Given the description of an element on the screen output the (x, y) to click on. 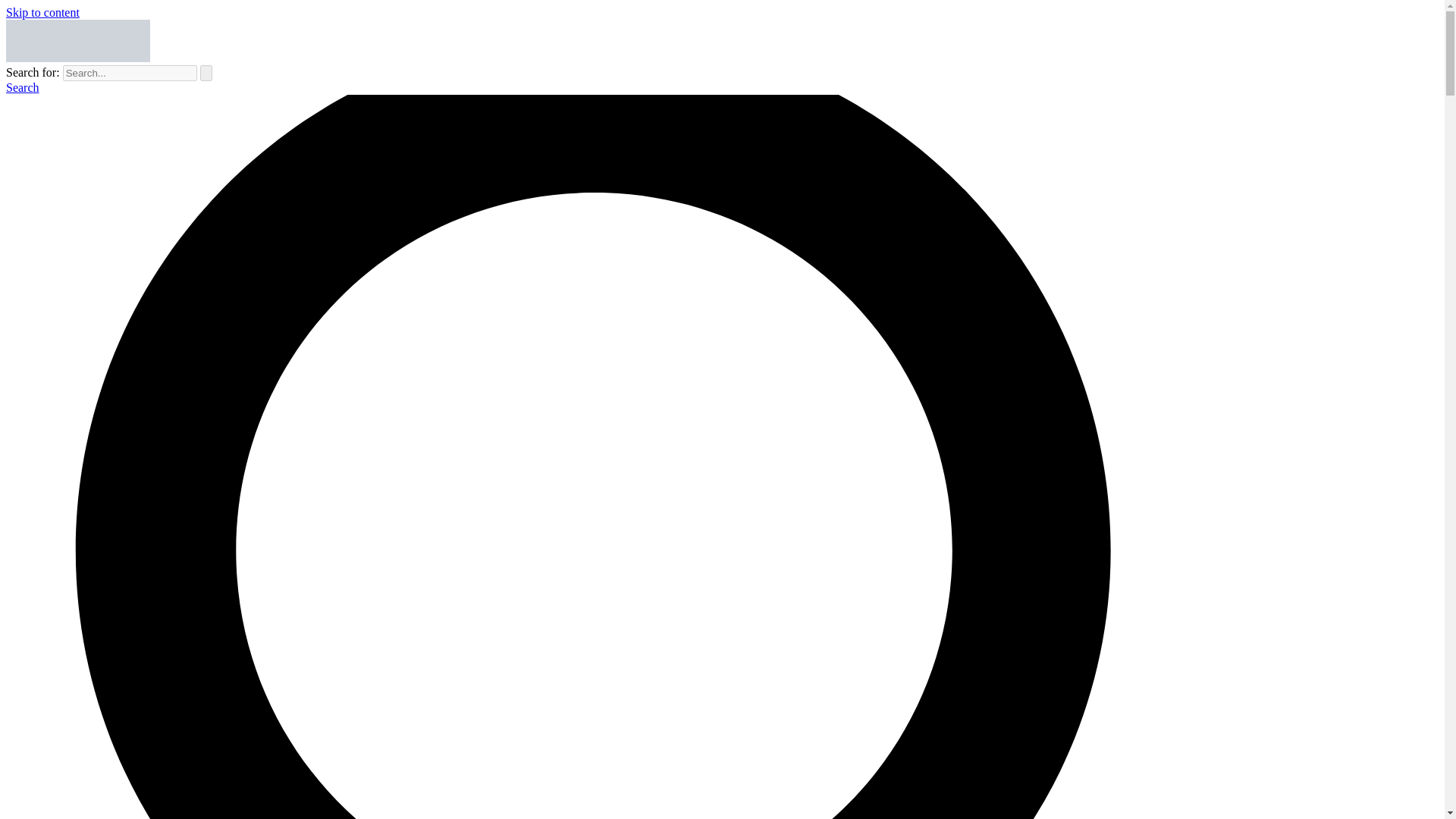
Skip to content (42, 11)
Skip to content (42, 11)
